Given the description of an element on the screen output the (x, y) to click on. 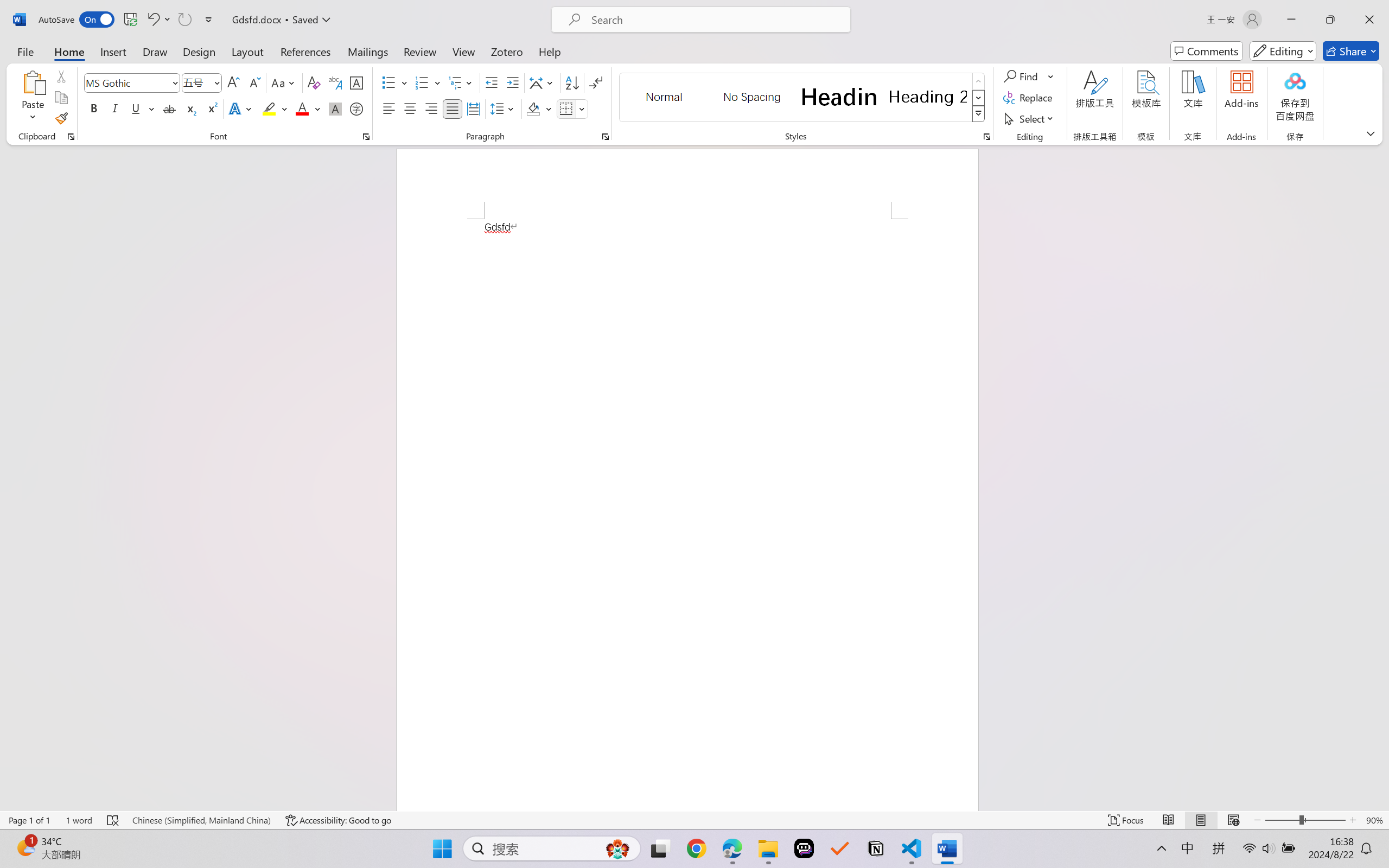
Language Chinese (Simplified, Mainland China) (201, 819)
